Given the description of an element on the screen output the (x, y) to click on. 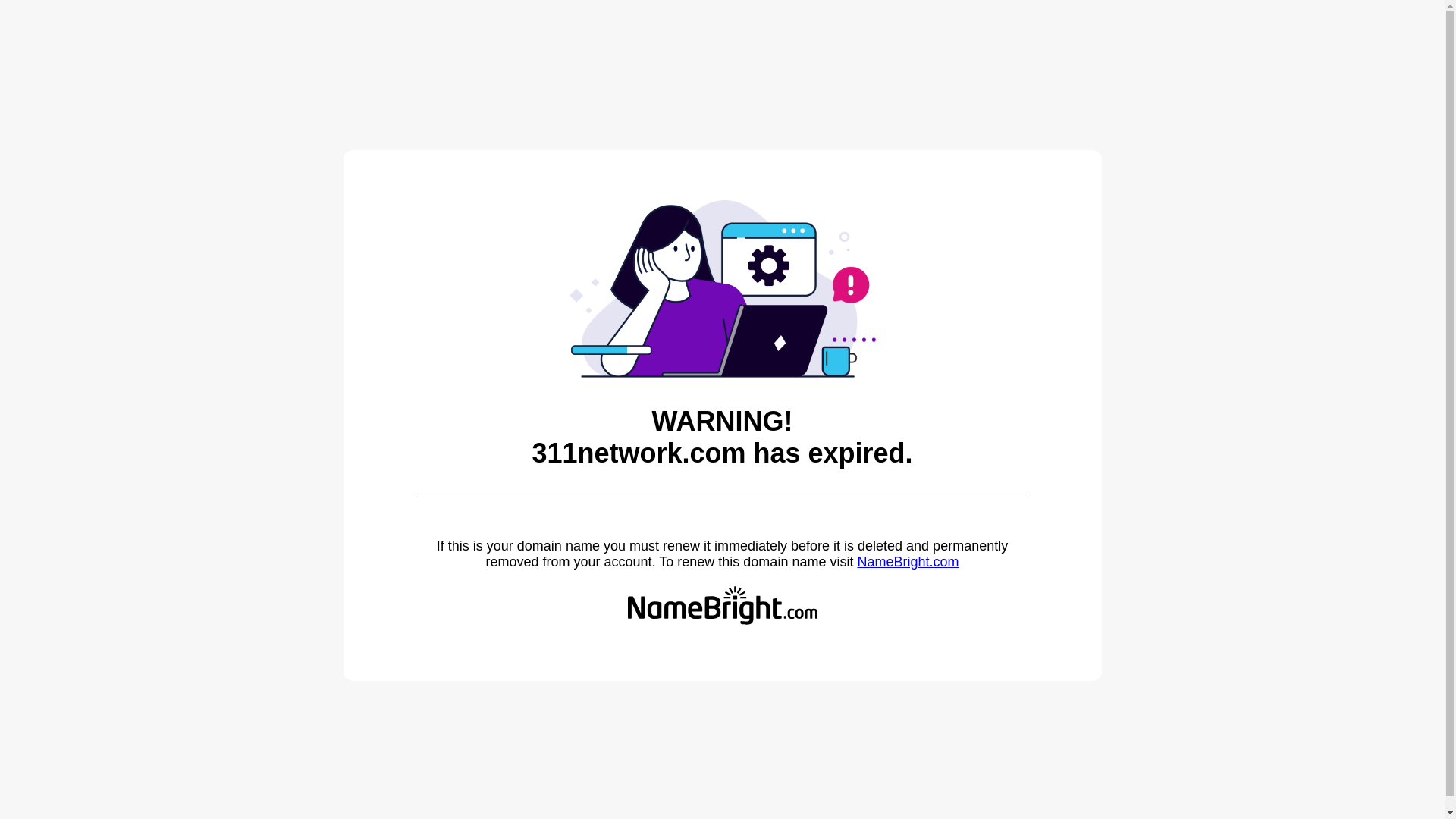
NameBright.com Element type: text (907, 561)
